Given the description of an element on the screen output the (x, y) to click on. 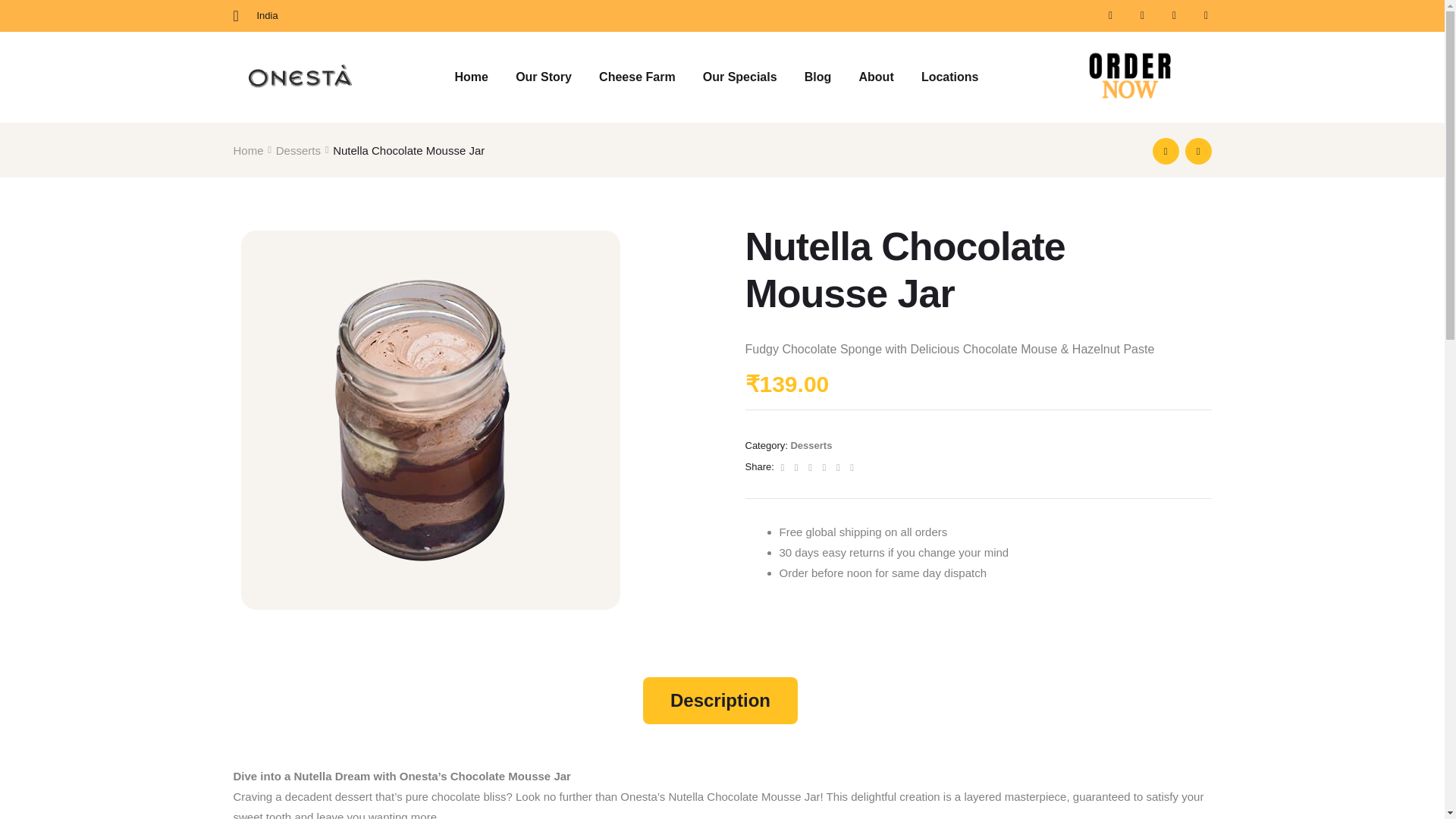
Email to a Friend (851, 466)
Share on facebook (783, 466)
Home (471, 77)
About (875, 77)
Share on Twitter (797, 466)
Locations (949, 77)
Blog (818, 77)
Share on Pinterest (838, 466)
Share on LinkedIn (811, 466)
Our Specials (739, 77)
Our Story (543, 77)
Cheese Farm (636, 77)
Share on Google plus (825, 466)
